Given the description of an element on the screen output the (x, y) to click on. 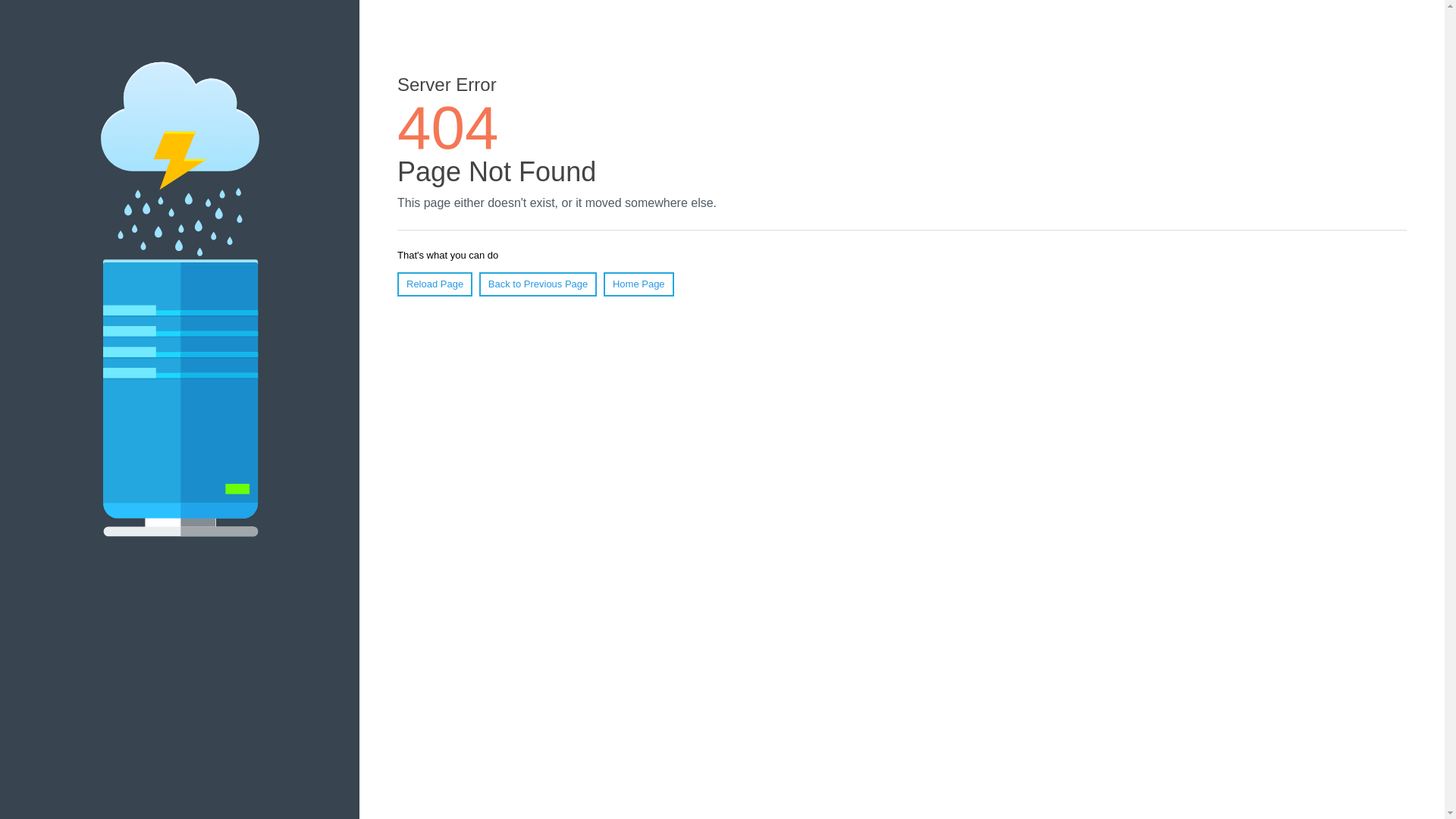
Reload Page Element type: text (434, 284)
Home Page Element type: text (638, 284)
Back to Previous Page Element type: text (538, 284)
